Given the description of an element on the screen output the (x, y) to click on. 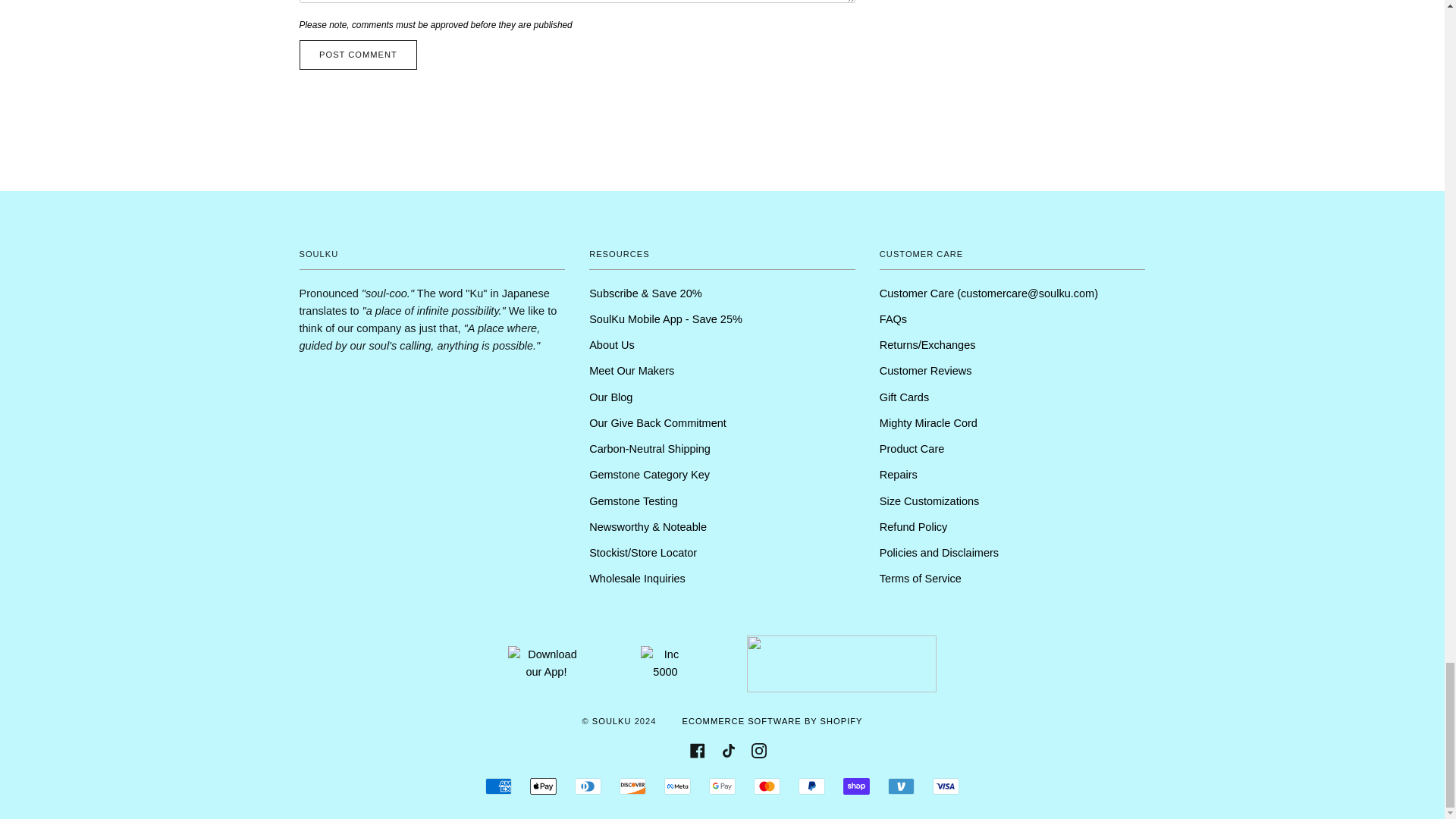
PAYPAL (811, 786)
VENMO (901, 786)
MASTERCARD (767, 786)
Tiktok (727, 749)
Instagram (759, 749)
APPLE PAY (542, 786)
AMERICAN EXPRESS (498, 786)
SHOP PAY (856, 786)
DINERS CLUB (588, 786)
GOOGLE PAY (722, 786)
DISCOVER (633, 786)
Facebook (697, 749)
META PAY (676, 786)
